Given the description of an element on the screen output the (x, y) to click on. 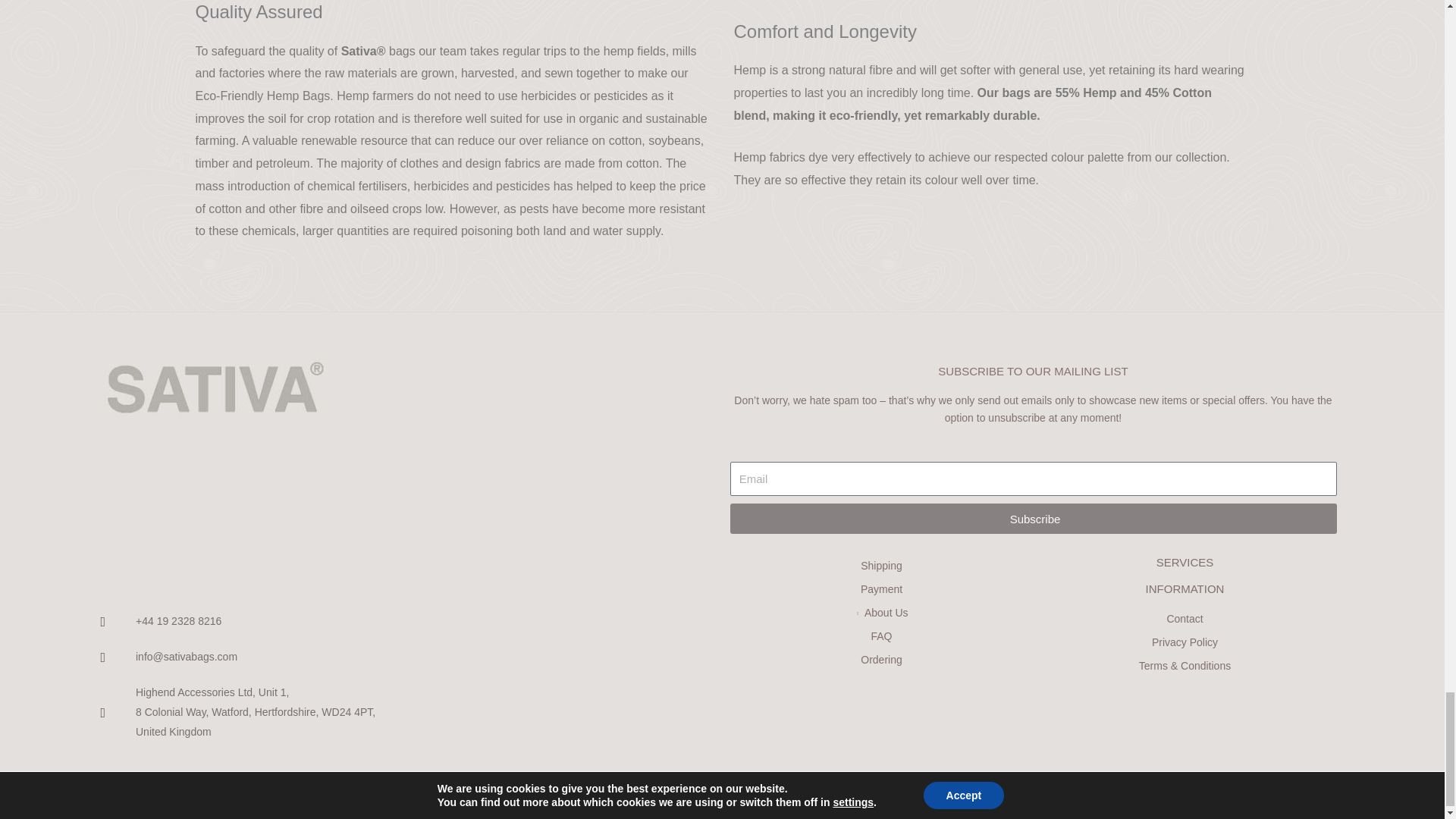
Sativa Bags (392, 499)
